Given the description of an element on the screen output the (x, y) to click on. 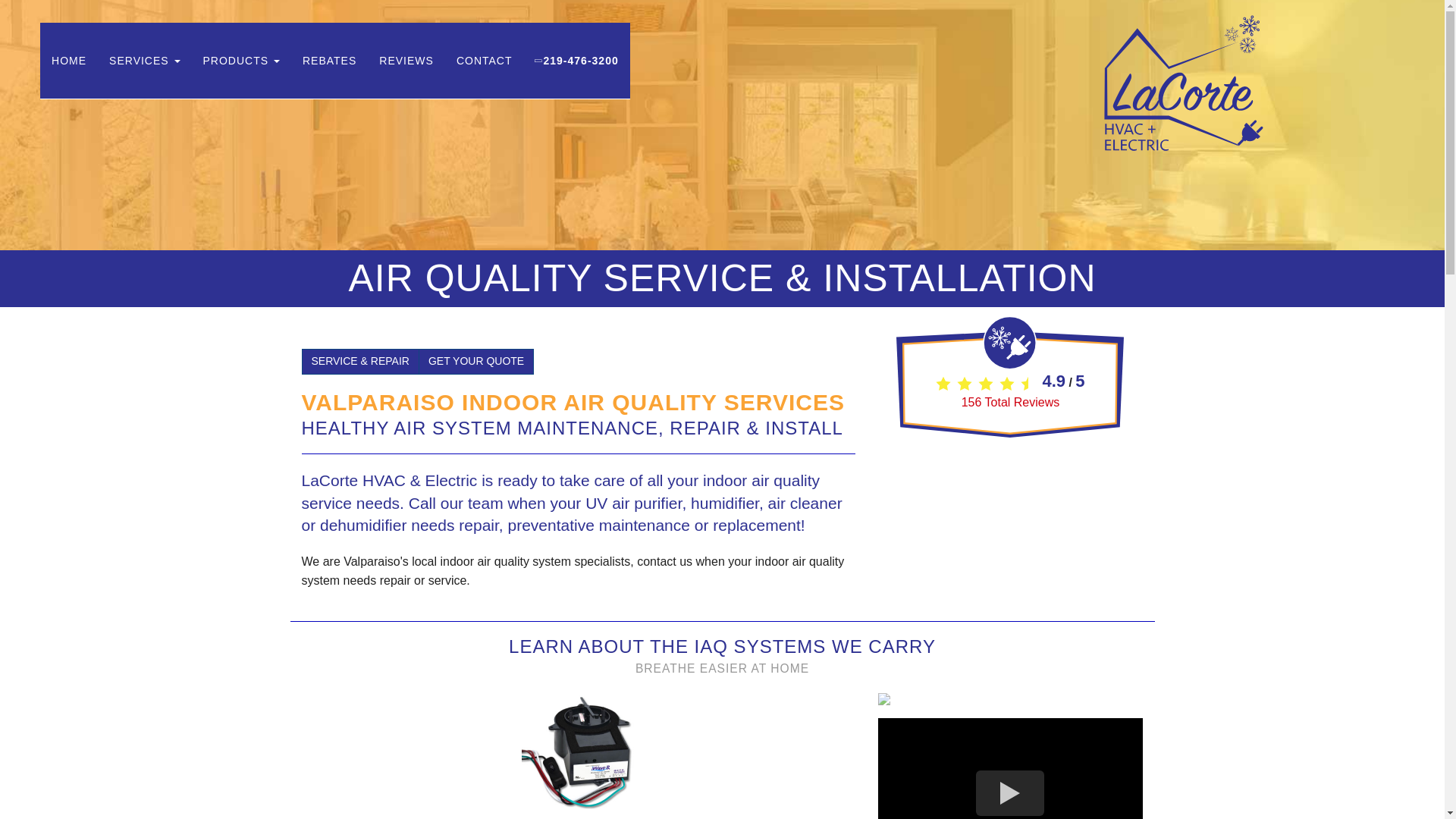
REVIEWS (406, 60)
219-476-3200 (575, 60)
GET YOUR QUOTE (476, 361)
REBATES (329, 60)
156 Total Reviews (1009, 401)
PRODUCTS (241, 60)
CONTACT (484, 60)
SERVICES (143, 60)
